Given the description of an element on the screen output the (x, y) to click on. 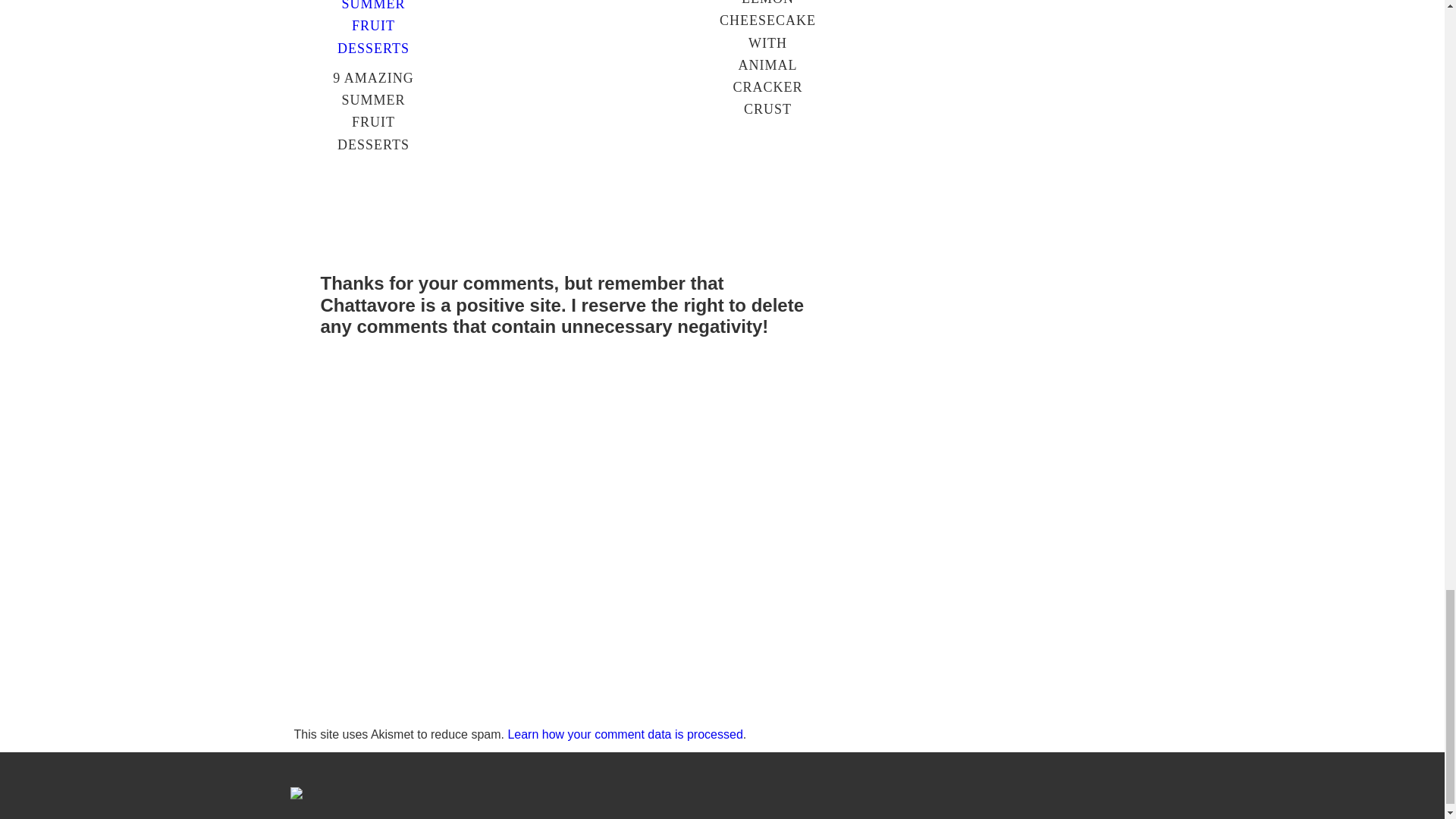
Get the Recipe Cards! (570, 49)
BY COURSE (435, 152)
9 Amazing Summer Fruit Desserts (373, 444)
Comment Form (570, 782)
Get the Recipe Cards! (570, 49)
Instant Pot Lemon Cheesecake With Animal Cracker Crust (767, 342)
